Given the description of an element on the screen output the (x, y) to click on. 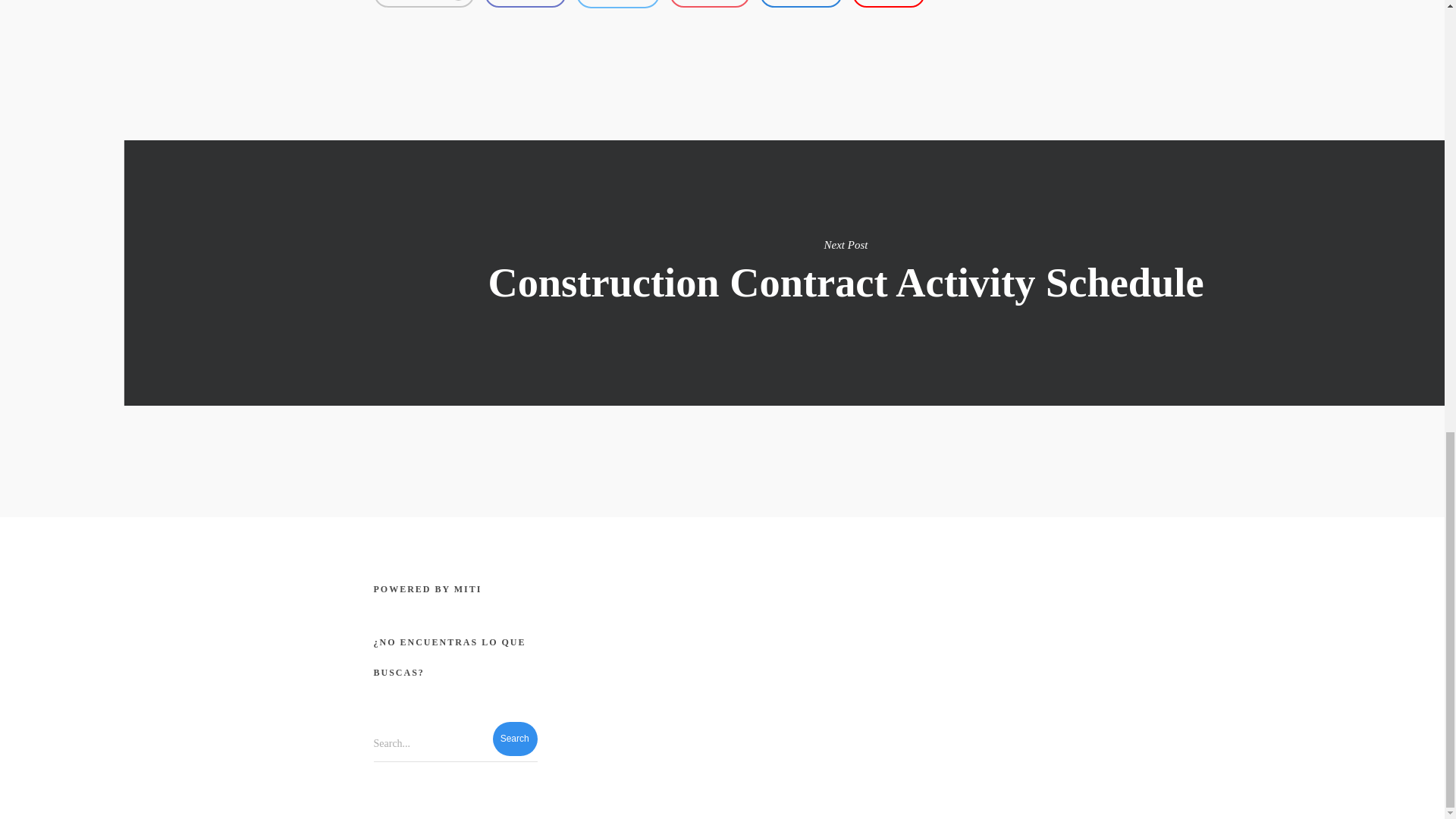
Tweet this (617, 4)
Tweet (617, 4)
Share (801, 3)
Share this (801, 3)
Search (515, 738)
Search for: (454, 743)
Share this (710, 3)
Love this (423, 3)
Share this (525, 3)
Share (525, 3)
Share (710, 3)
Search (515, 738)
Search (515, 738)
Pin this (423, 3)
